Given the description of an element on the screen output the (x, y) to click on. 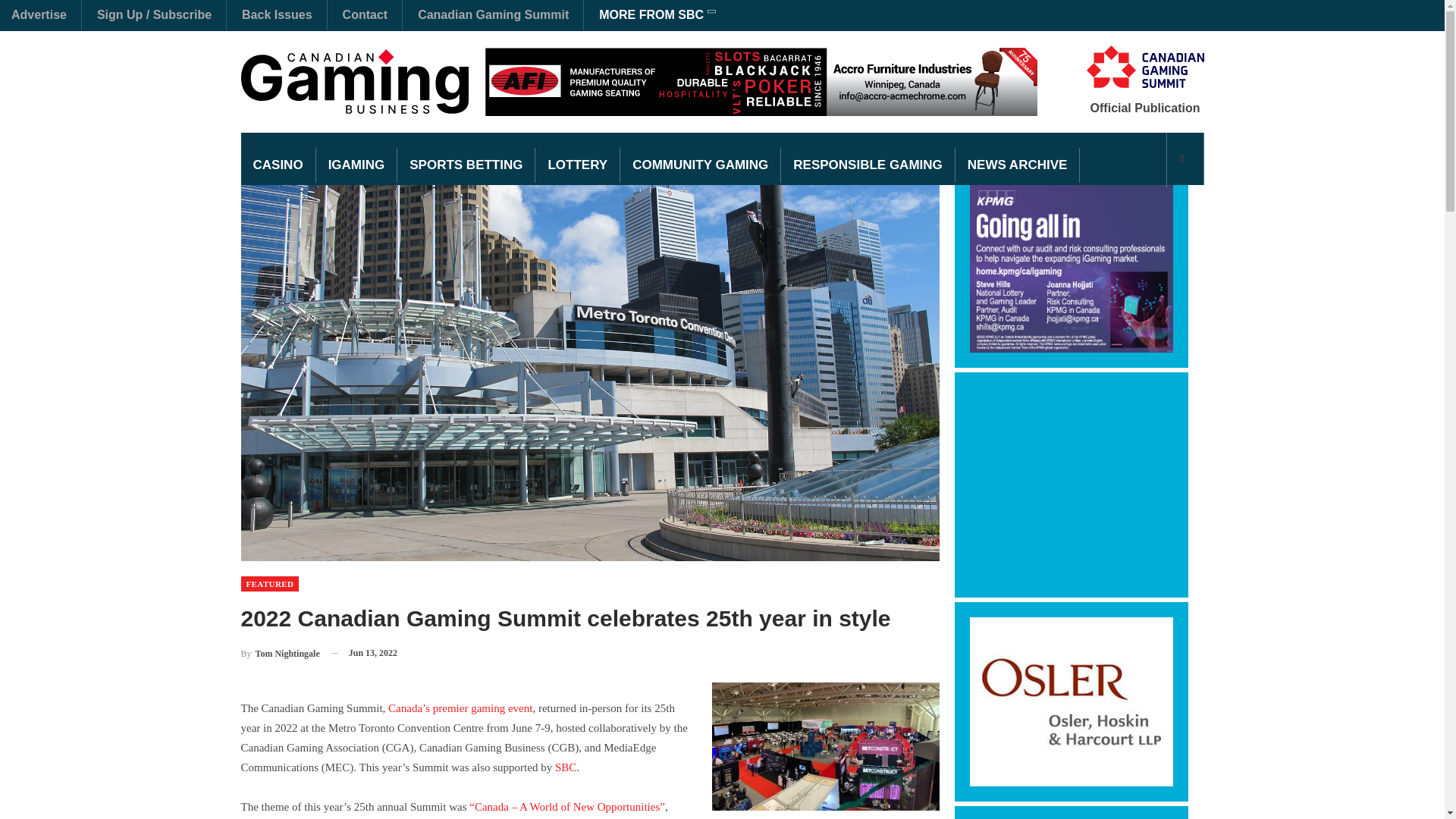
Osler (1071, 701)
Back Issues (277, 14)
Canadian Gaming Summit (493, 14)
KPMG (1071, 267)
Advertise (38, 14)
Contact (365, 14)
Browse Author Articles (280, 652)
